Given the description of an element on the screen output the (x, y) to click on. 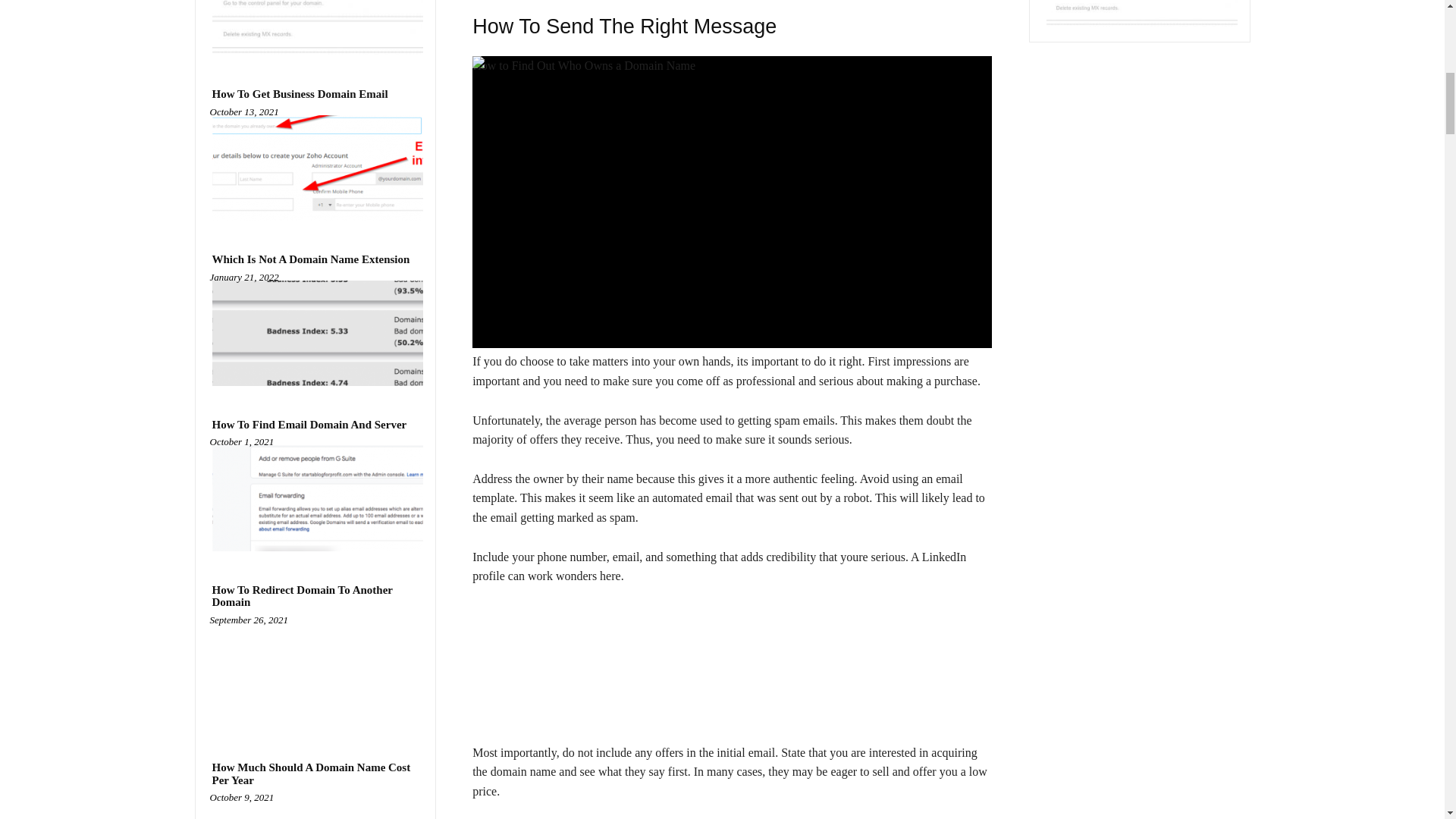
How To Get Business Domain Email (299, 93)
How To Connect Google Domain To Bluehost (314, 27)
How To Get Business Domain Email (314, 167)
Which Is Not A Domain Name Extension (314, 332)
